Given the description of an element on the screen output the (x, y) to click on. 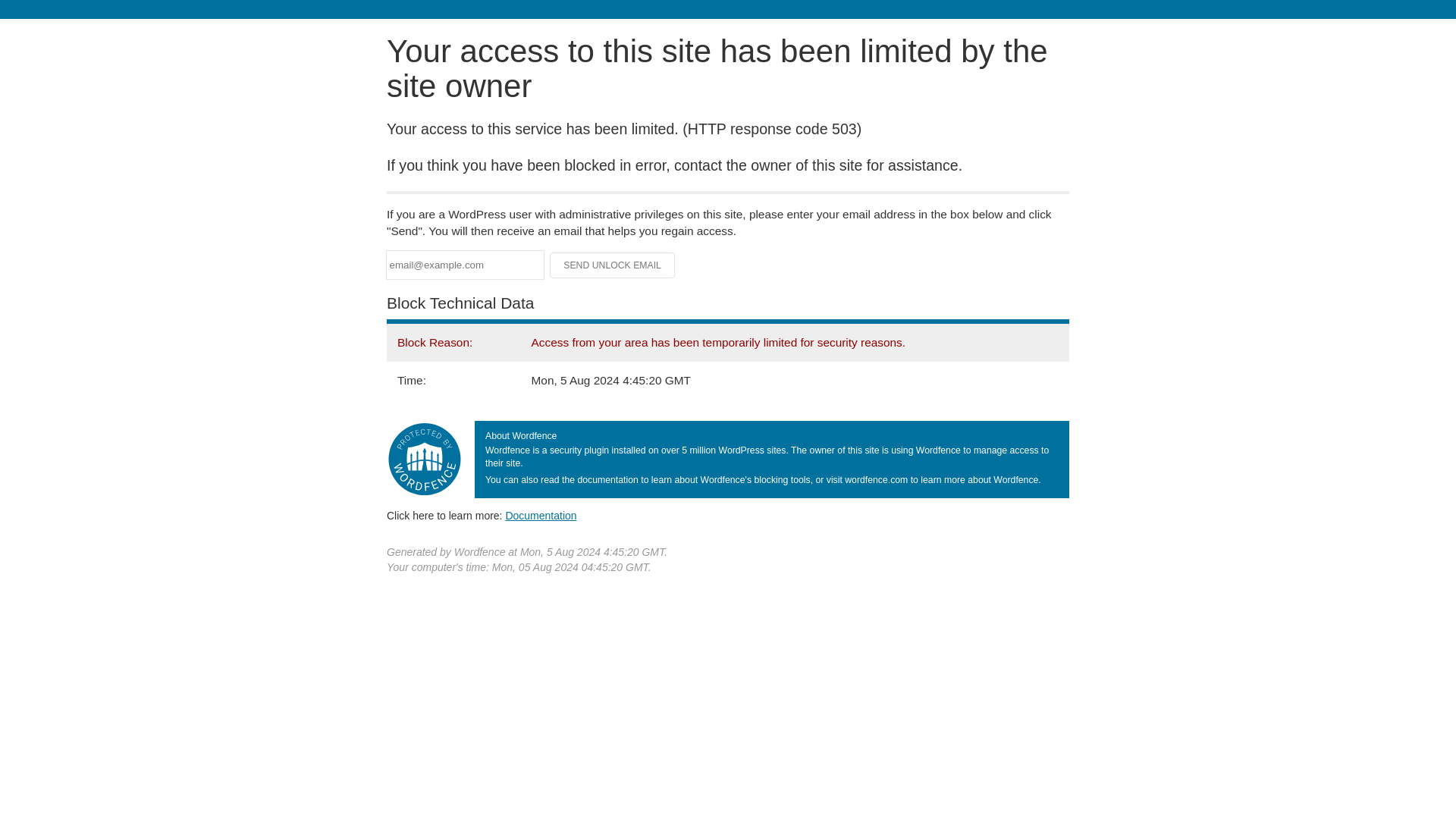
Send Unlock Email (612, 265)
Send Unlock Email (612, 265)
Documentation (540, 515)
